Given the description of an element on the screen output the (x, y) to click on. 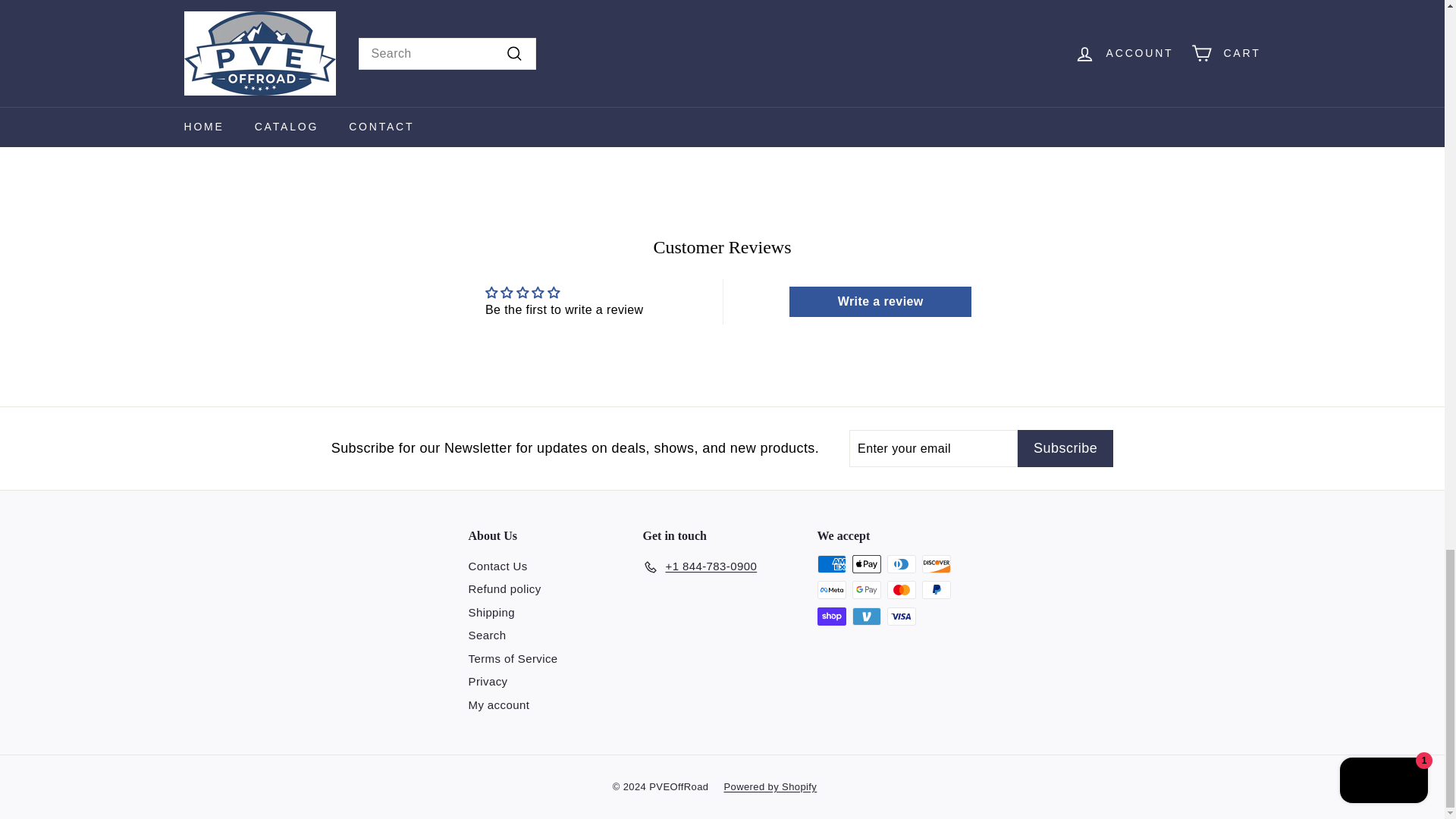
Shop Pay (830, 616)
PayPal (935, 589)
Meta Pay (830, 589)
Google Pay (865, 589)
Discover (935, 564)
American Express (830, 564)
Apple Pay (865, 564)
Venmo (865, 616)
Diners Club (900, 564)
Mastercard (900, 589)
